Given the description of an element on the screen output the (x, y) to click on. 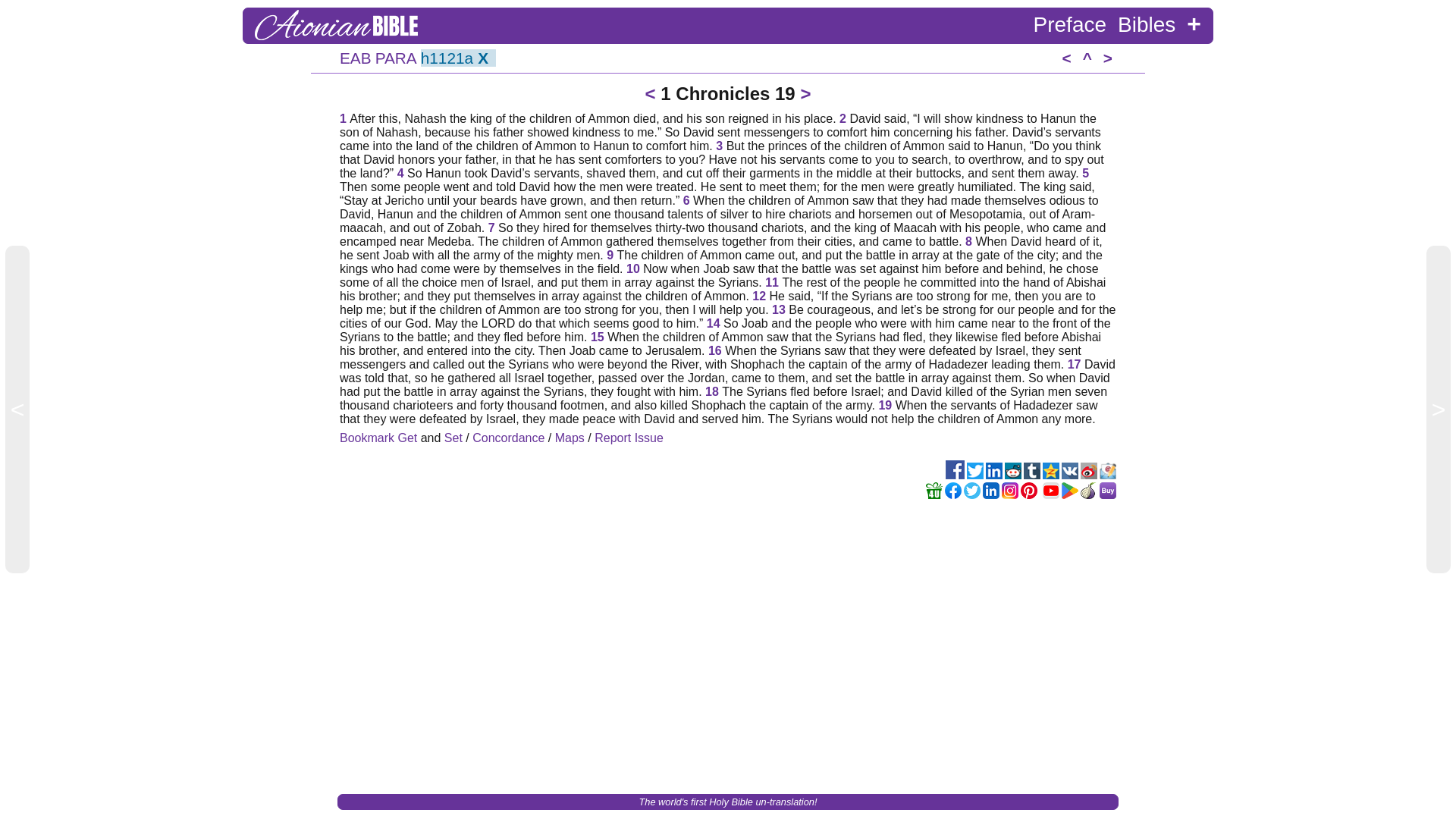
EAB (355, 57)
X (484, 57)
Aionian Bible homepage (335, 35)
17 (1074, 364)
Read and Study Parallel Bible (395, 57)
Bible Table of Contents (355, 57)
19 (884, 404)
5 (1085, 173)
8 (968, 241)
Bibles (1146, 24)
6 (686, 200)
Font Size Accessibility (1193, 23)
4 (400, 173)
